Given the description of an element on the screen output the (x, y) to click on. 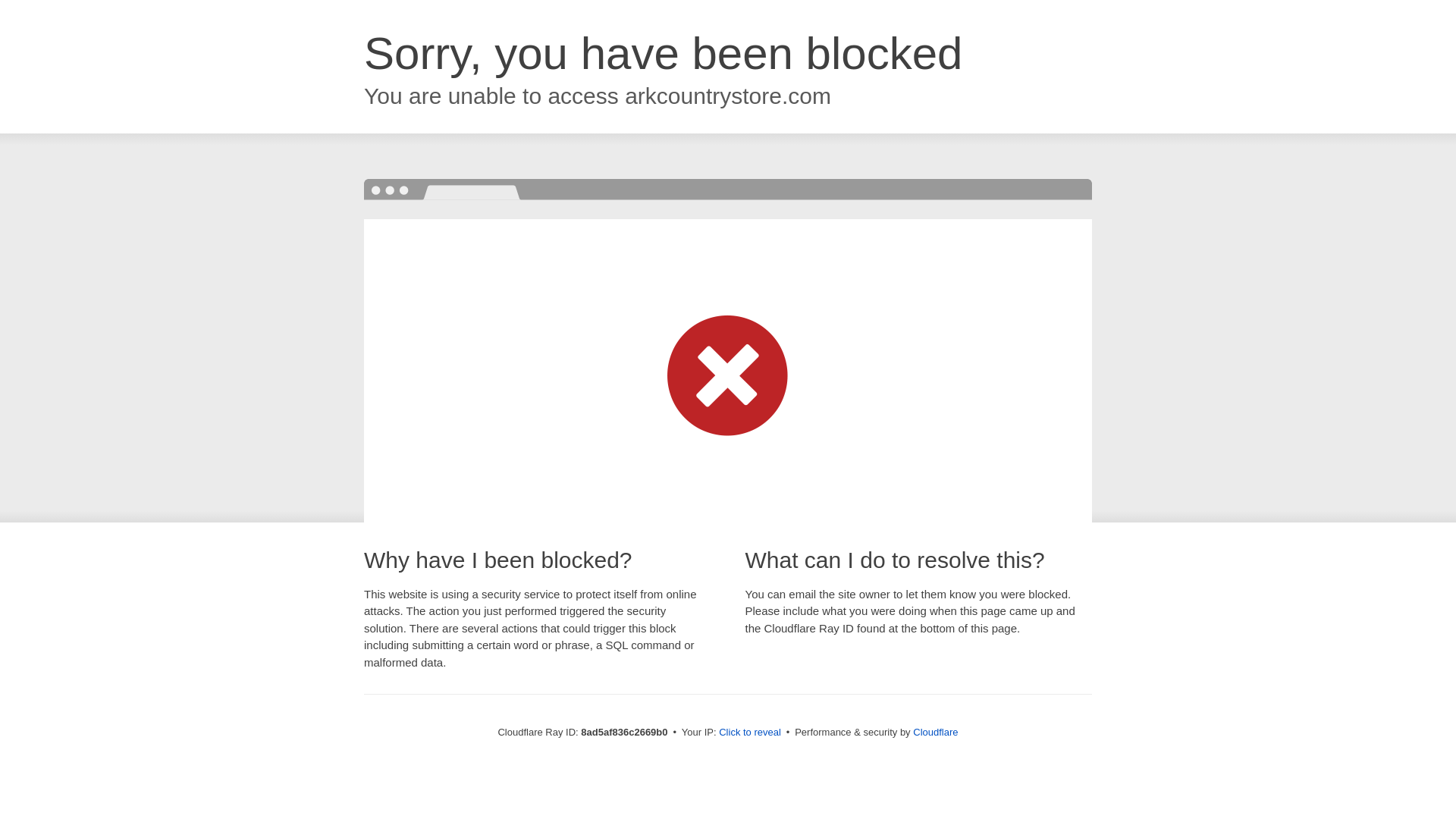
Click to reveal (749, 732)
Cloudflare (935, 731)
